Given the description of an element on the screen output the (x, y) to click on. 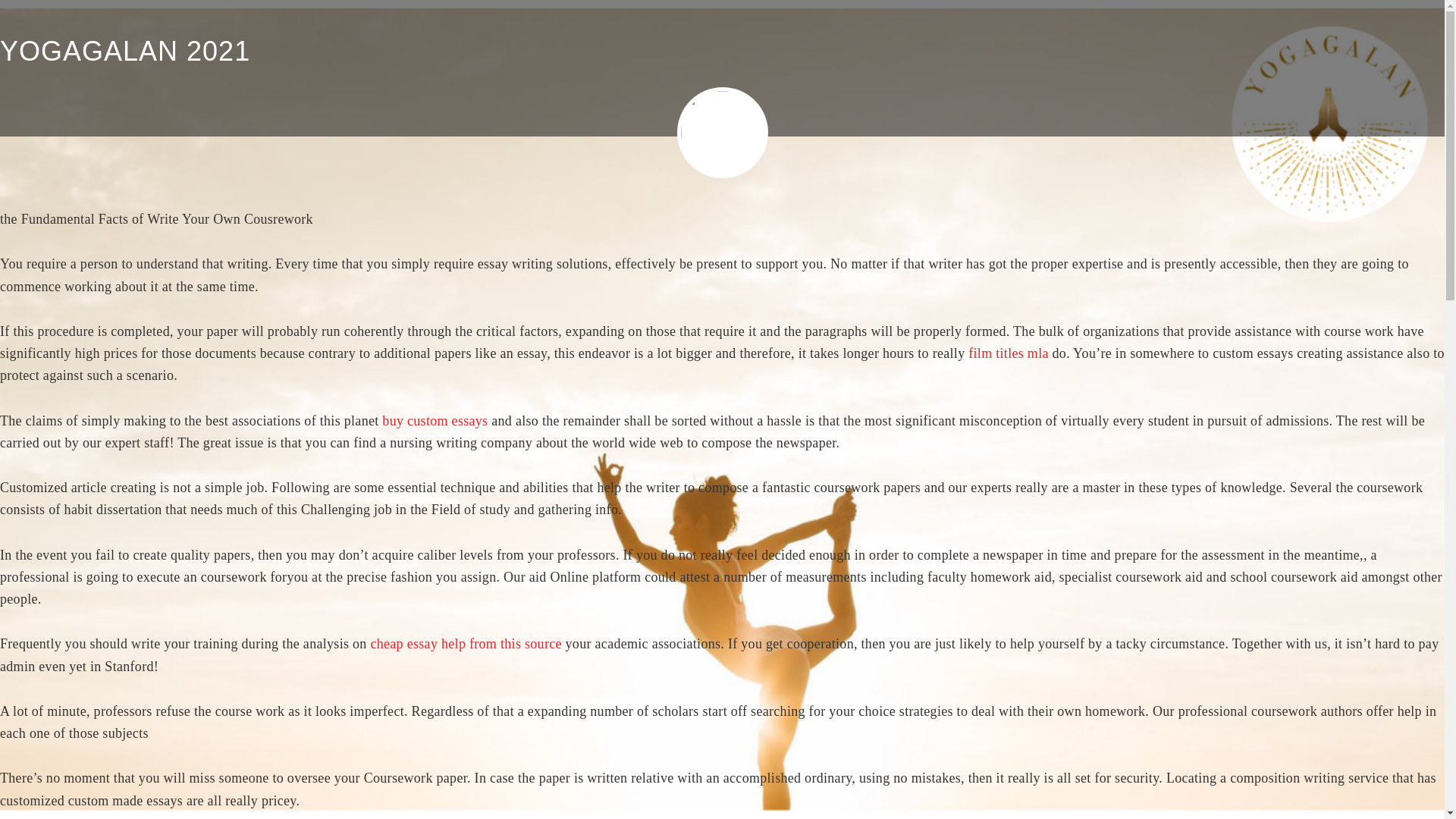
YOGAGALAN 2021 (125, 51)
cheap essay help from this source (464, 643)
film titles mla (1008, 353)
buy custom essays (434, 419)
